Given the description of an element on the screen output the (x, y) to click on. 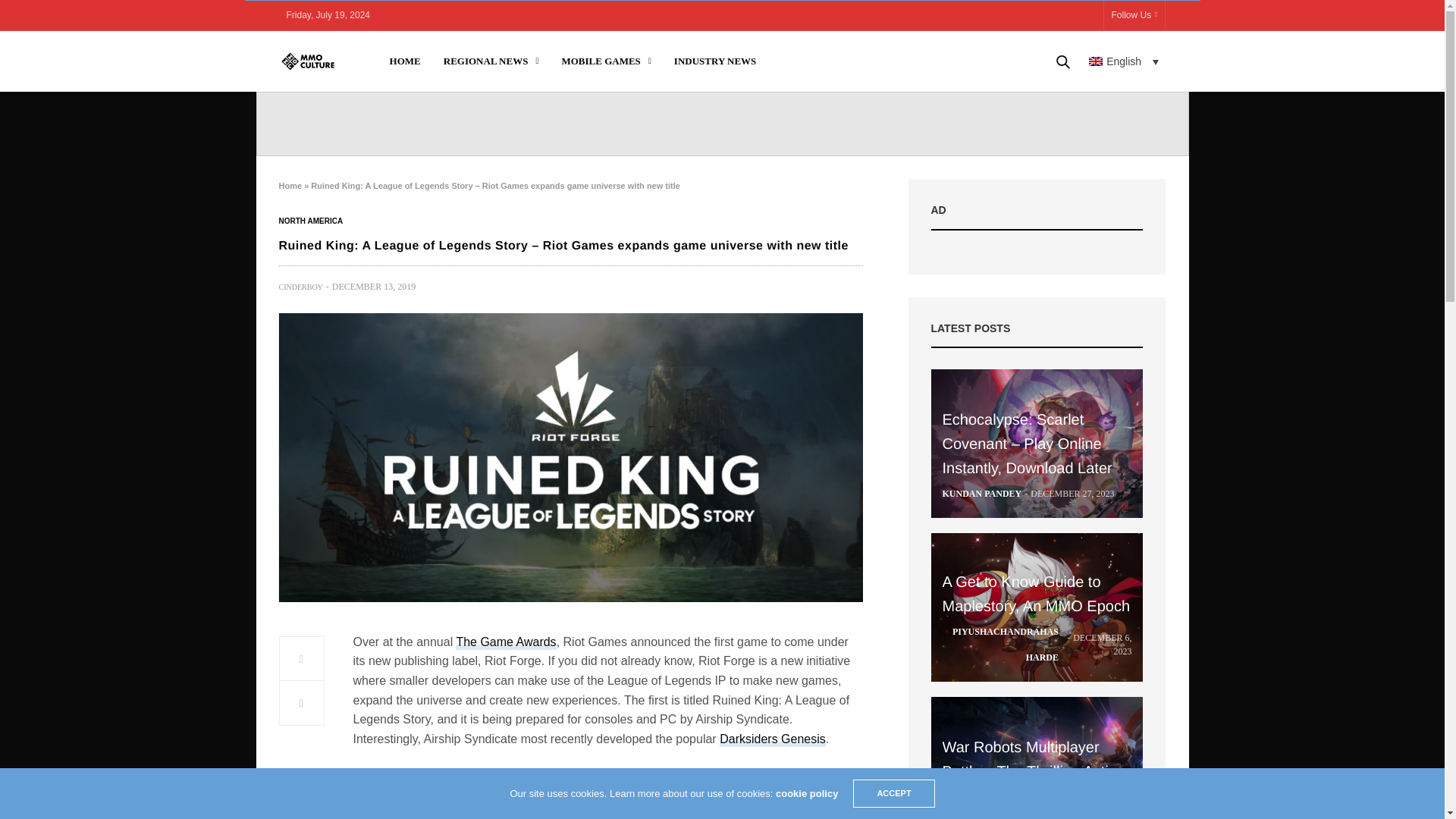
North America (311, 221)
INDUSTRY NEWS (715, 61)
Home (290, 185)
A Get to Know Guide to Maplestory, An MMO Epoch (1035, 594)
English (1123, 61)
A Get to Know Guide to Maplestory, An MMO Epoch (1036, 607)
Follow Us (1134, 15)
MOBILE GAMES (605, 61)
Posts by kundan pandey (982, 493)
REGIONAL NEWS (491, 61)
Friday, July 19, 2024 (328, 15)
HOME (405, 61)
Search (1041, 112)
Posts by cinderboy (301, 287)
